Given the description of an element on the screen output the (x, y) to click on. 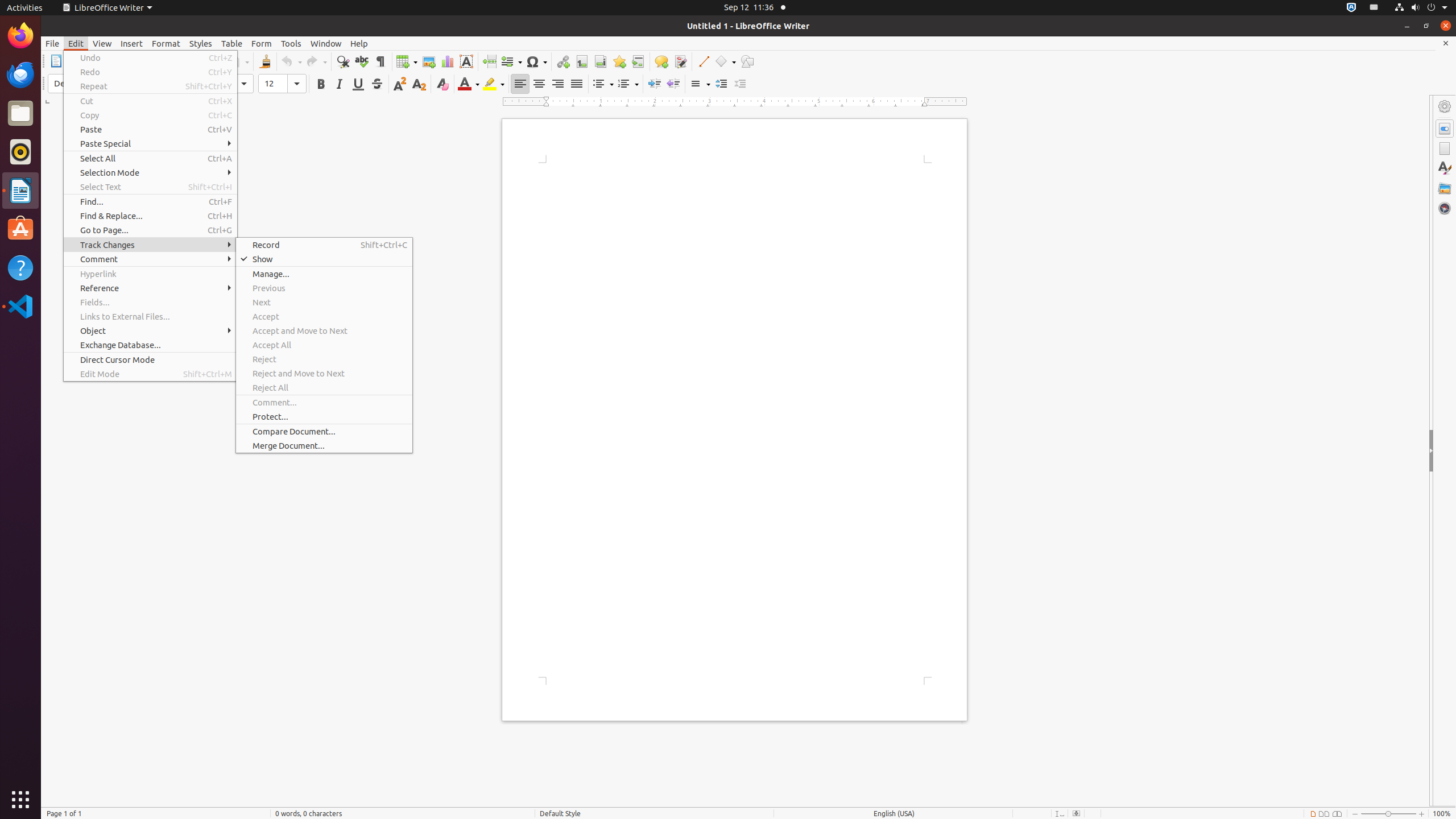
Next Element type: menu-item (324, 302)
Form Element type: menu (261, 43)
Font Size Element type: combo-box (282, 83)
Left Element type: toggle-button (519, 83)
Table Element type: push-button (406, 61)
